Given the description of an element on the screen output the (x, y) to click on. 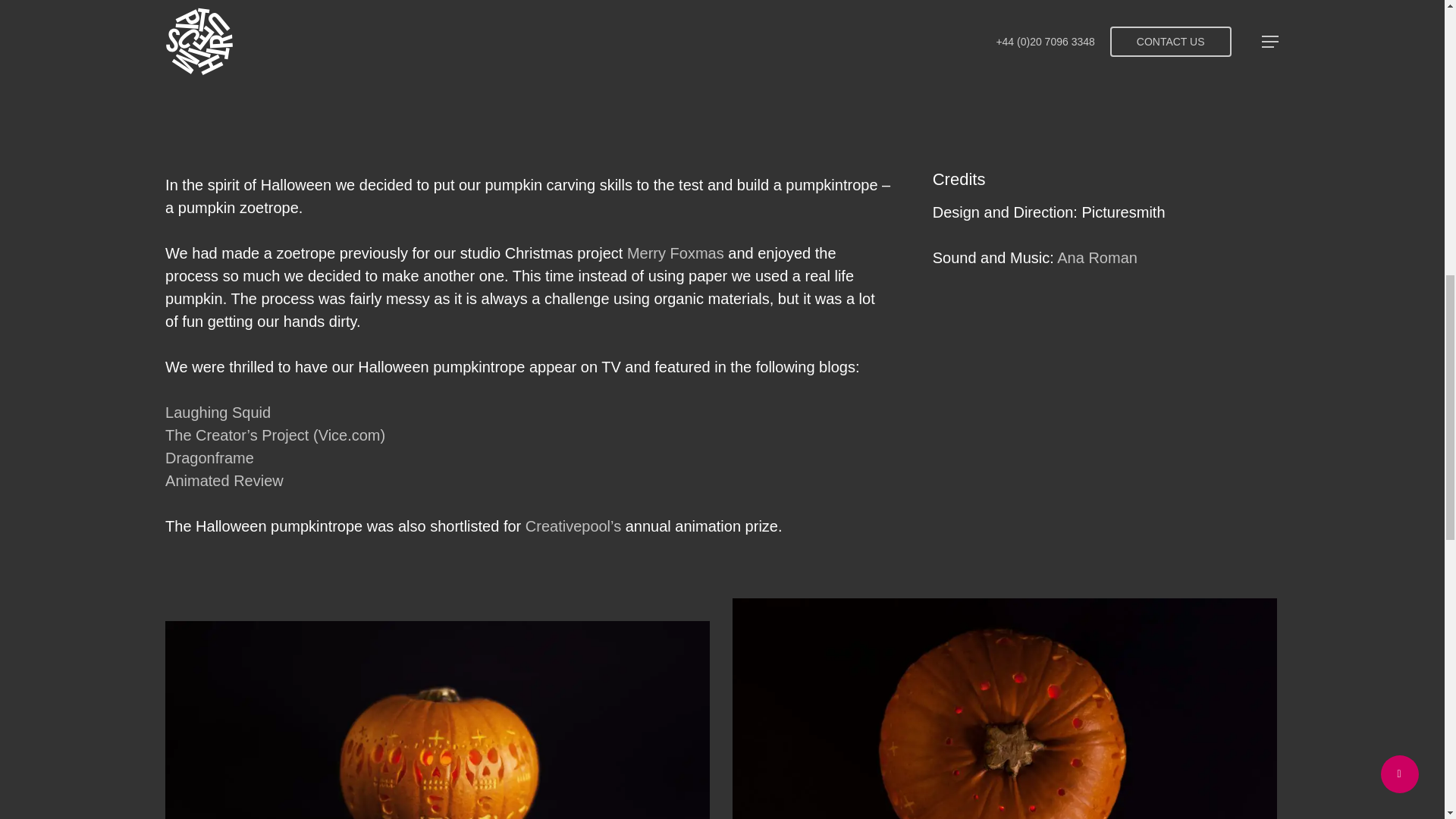
Pumpkintrope 0412 (1004, 708)
Laughing Squid (217, 412)
Ana Roman (1097, 257)
Pumpkintrope  - A Halloween Zoetrope (722, 52)
Merry Foxmas (675, 252)
Animated Review (224, 480)
Halloween pumpkintrope (437, 719)
Dragonframe (209, 457)
